Given the description of an element on the screen output the (x, y) to click on. 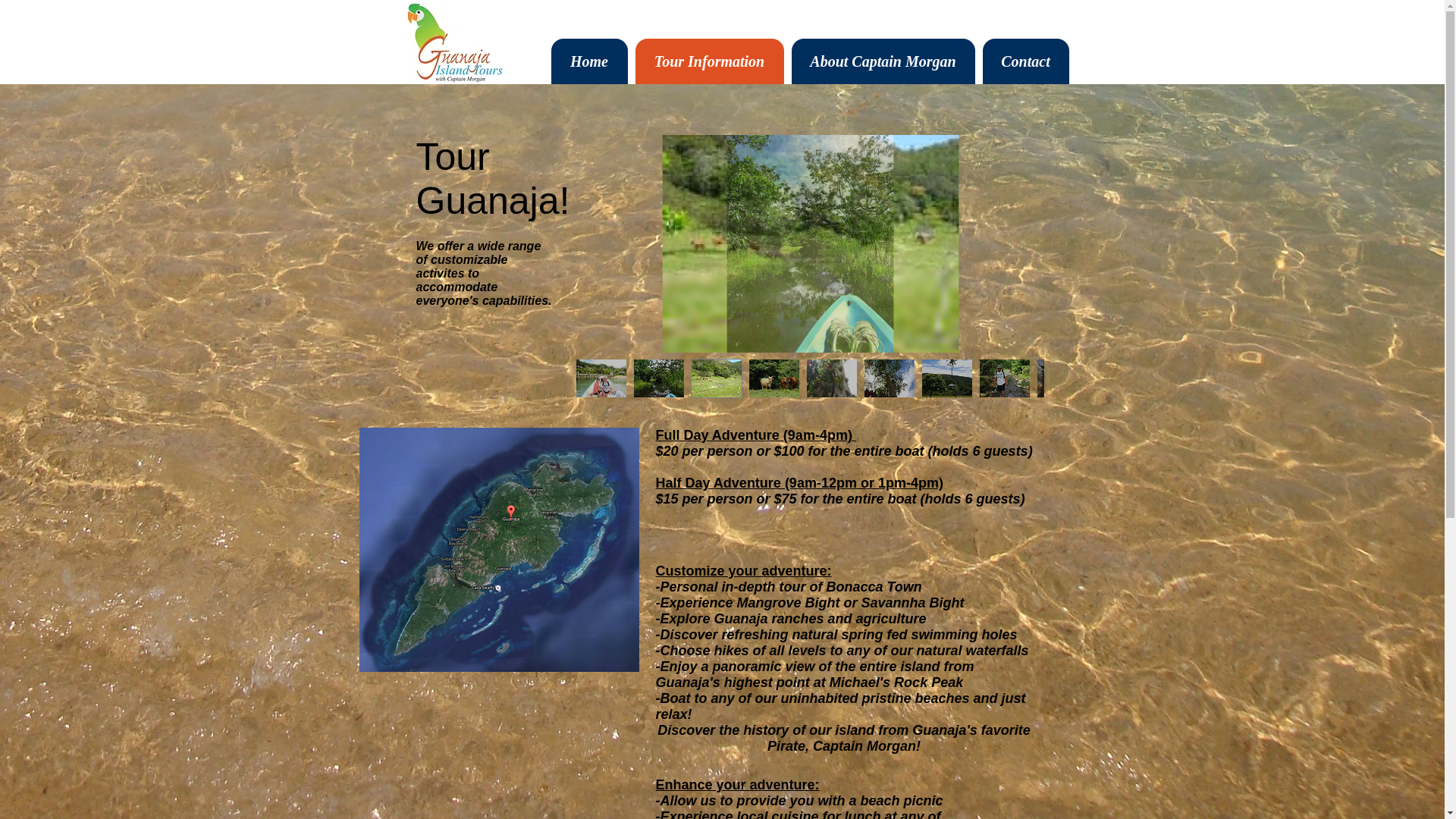
About Captain Morgan (883, 61)
Tour Information (709, 61)
Contact (1025, 61)
Home (588, 61)
